Given the description of an element on the screen output the (x, y) to click on. 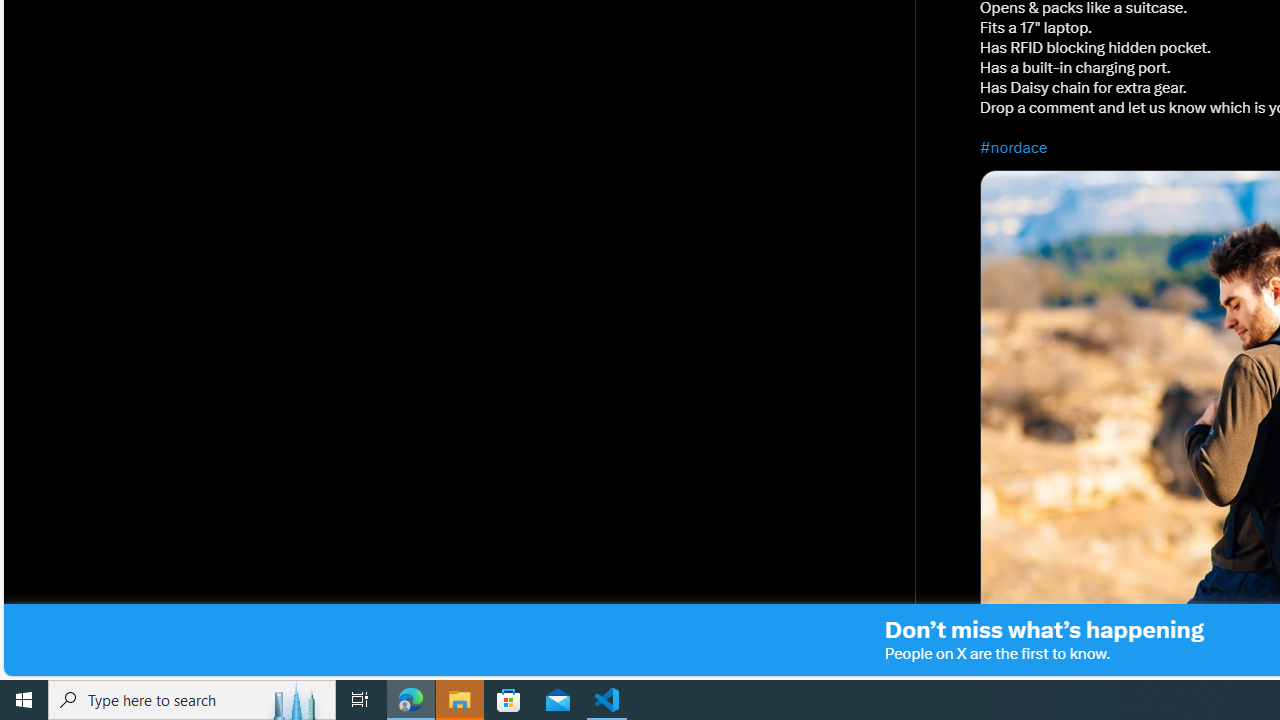
#nordace (1014, 147)
